Given the description of an element on the screen output the (x, y) to click on. 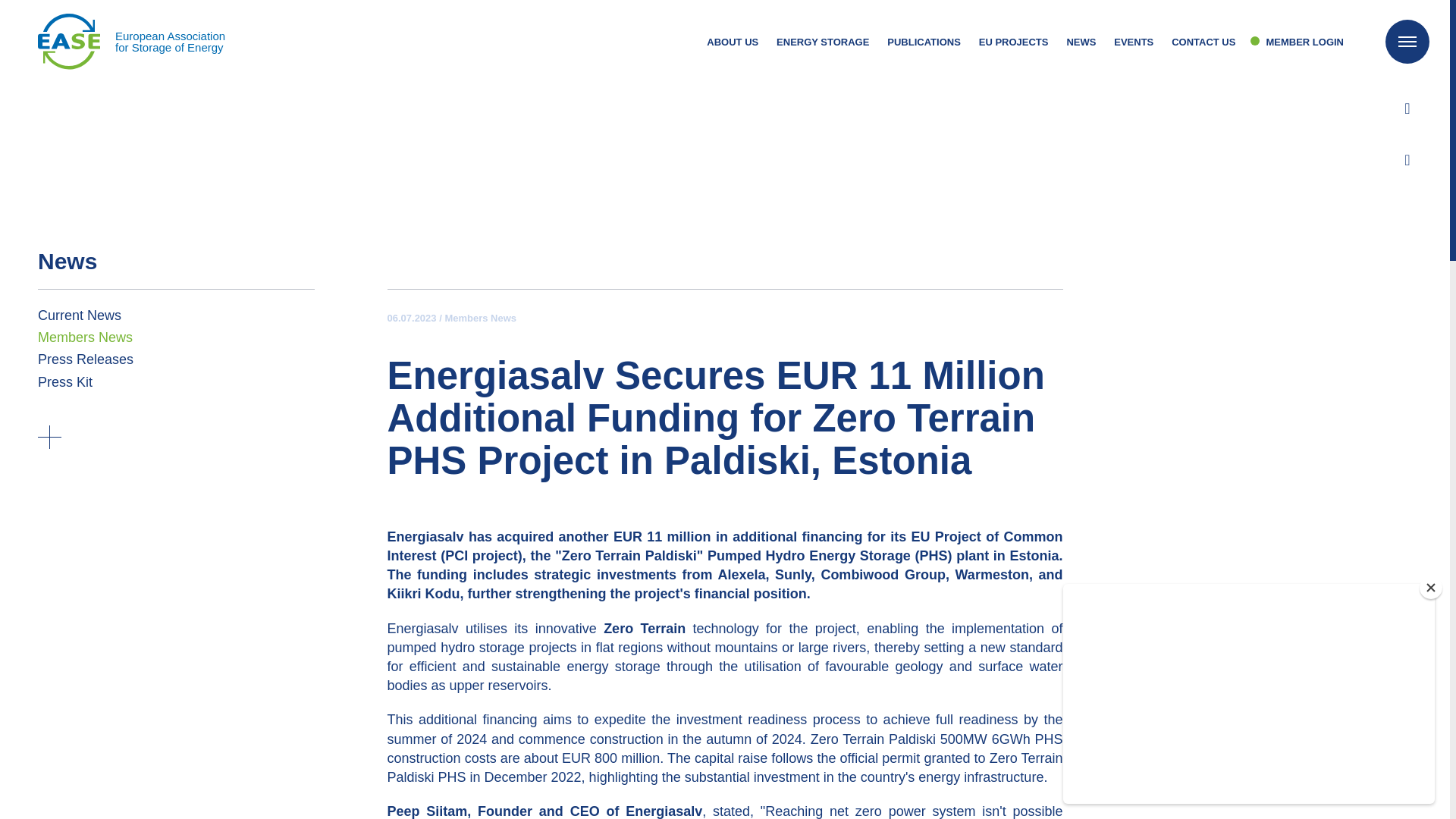
PUBLICATIONS (923, 41)
ENERGY STORAGE (822, 41)
ABOUT US (732, 41)
NEWS (1080, 41)
EVENTS (1133, 41)
MEMBER LOGIN (1296, 41)
CONTACT US (1203, 41)
EU PROJECTS (131, 41)
